Given the description of an element on the screen output the (x, y) to click on. 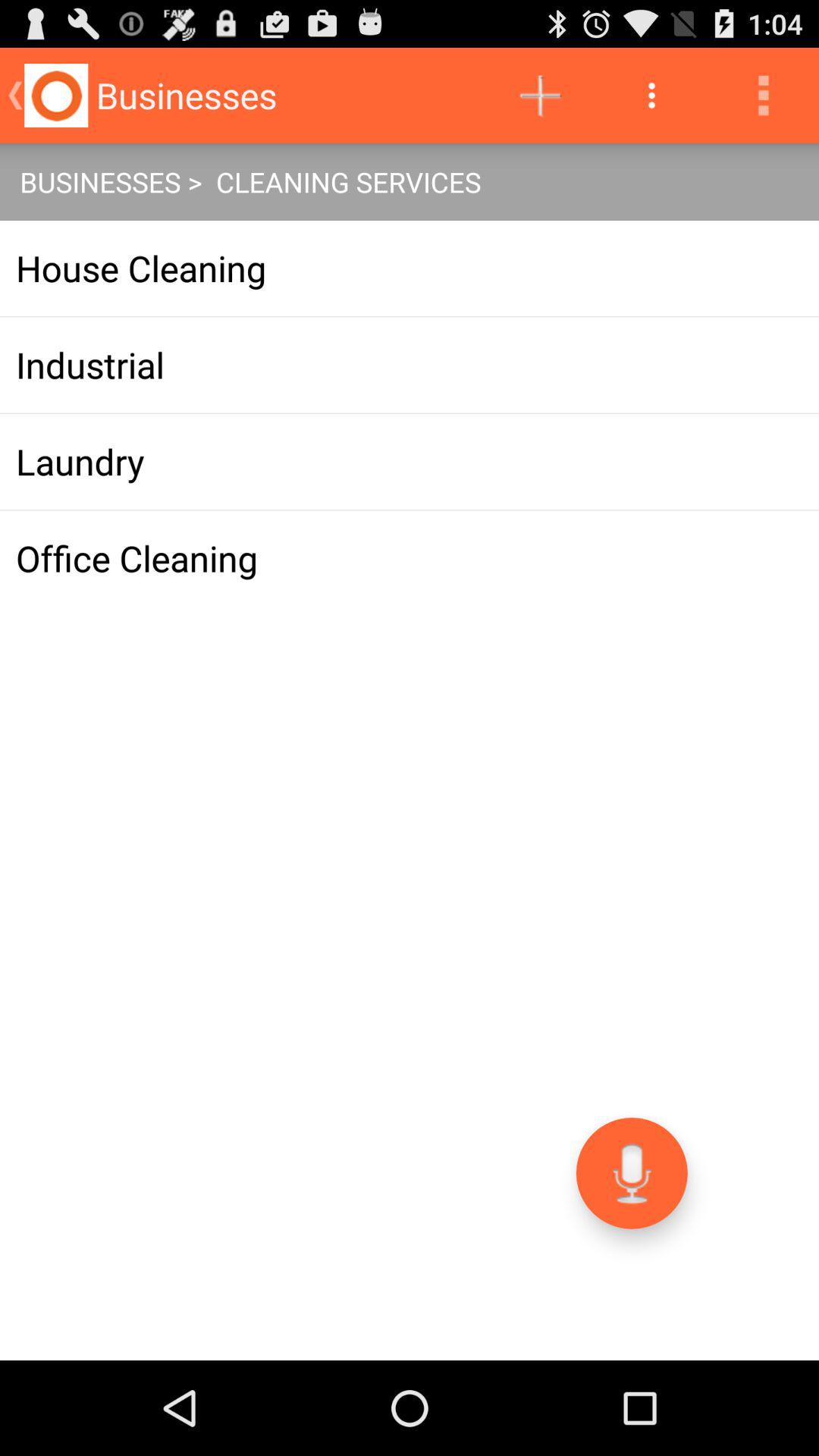
swipe to the industrial item (409, 364)
